Given the description of an element on the screen output the (x, y) to click on. 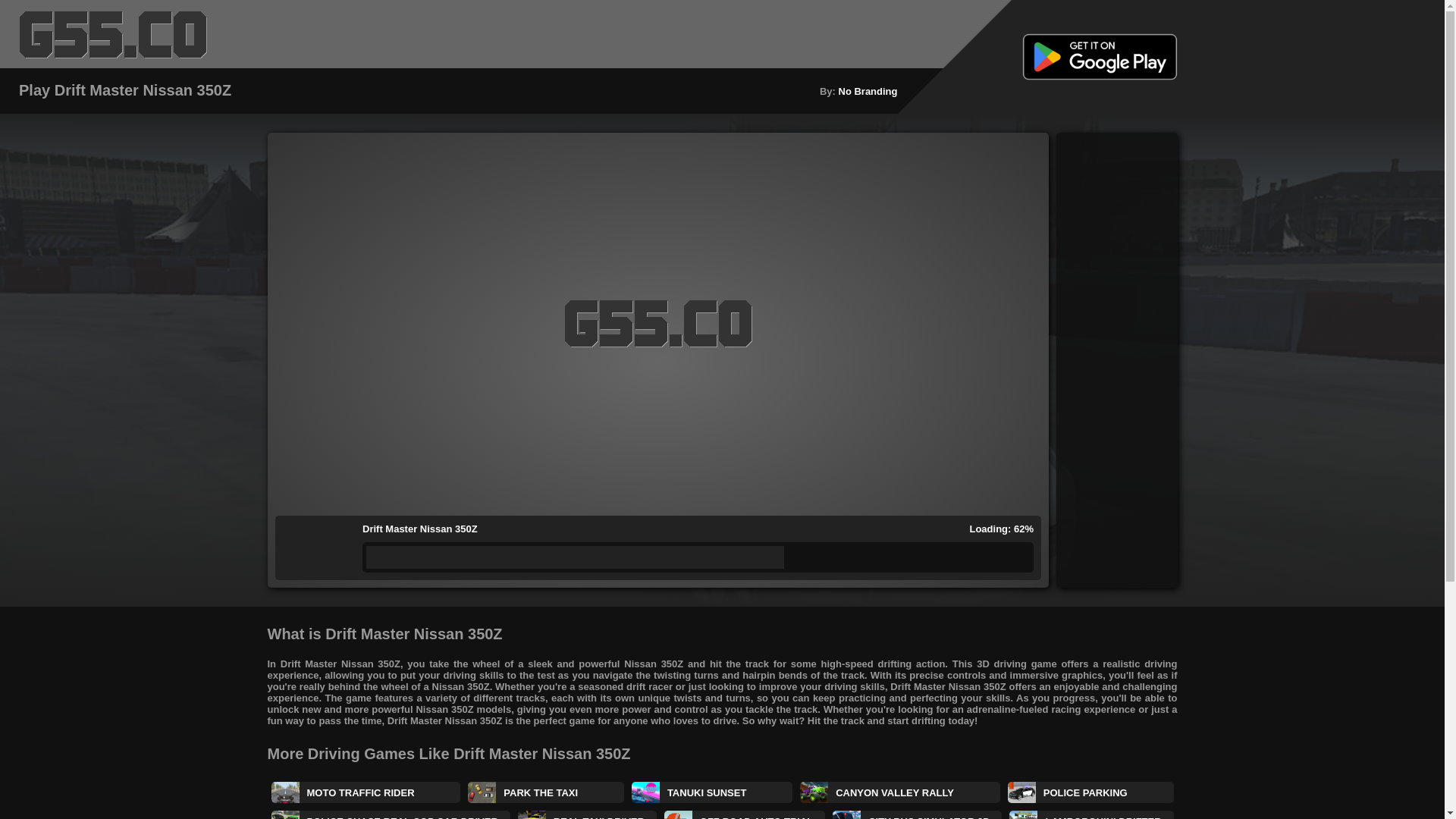
POLICE CHASE REAL COP CAR DRIVER (390, 814)
Off Road Auto Trial (744, 814)
CANYON VALLEY RALLY (899, 792)
Police Parking (1090, 792)
No Branding (868, 91)
Real Taxi Driver (587, 814)
REAL TAXI DRIVER (587, 814)
Tanuki Sunset (711, 792)
MOTO TRAFFIC RIDER (365, 792)
City Bus Simulator 3D (916, 814)
PARK THE TAXI (545, 792)
OFF ROAD AUTO TRIAL (744, 814)
Police Chase Real Cop Car Driver (390, 814)
CITY BUS SIMULATOR 3D (916, 814)
TANUKI SUNSET (711, 792)
